Given the description of an element on the screen output the (x, y) to click on. 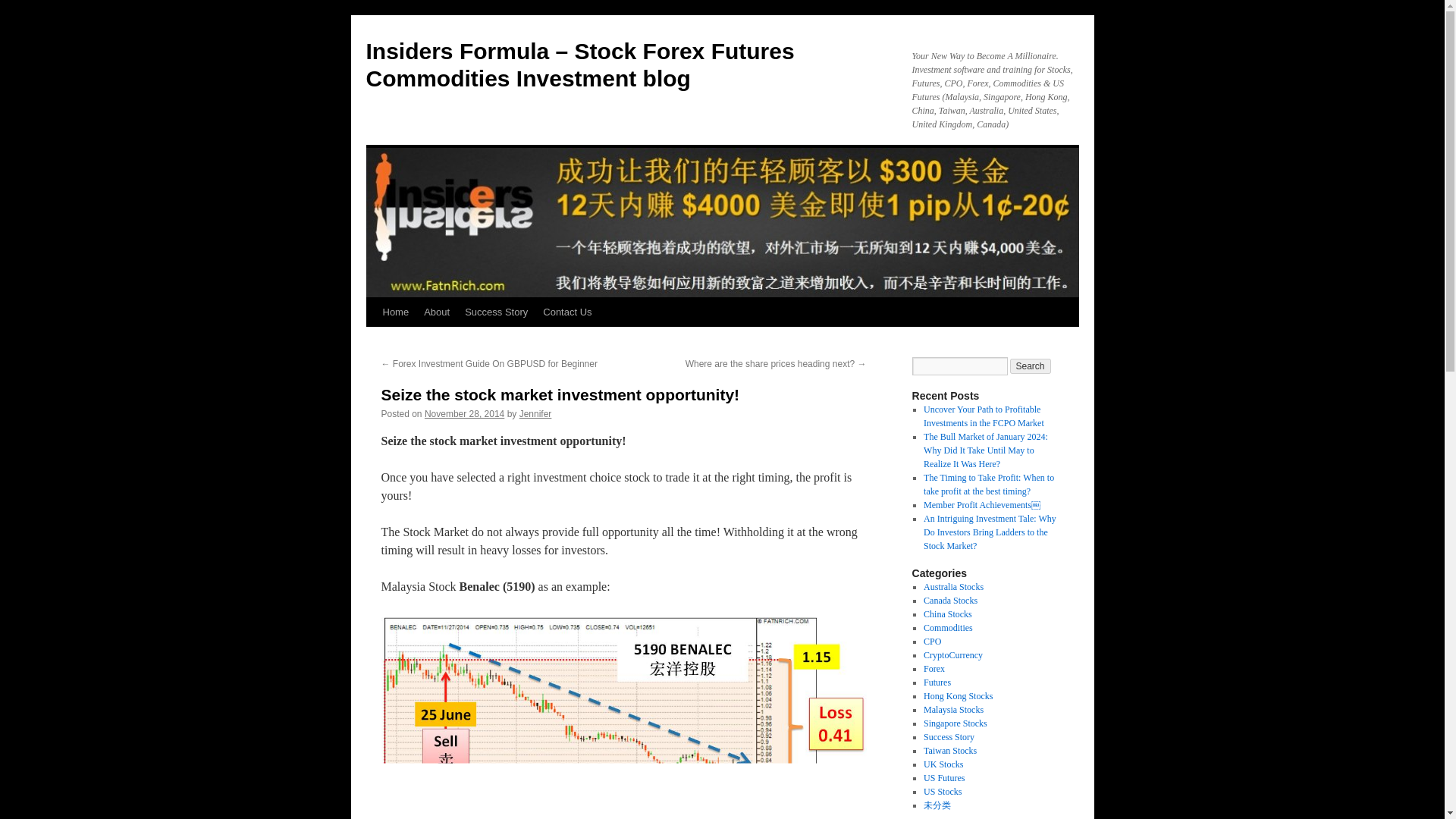
Contact Us (566, 312)
November 28, 2014 (464, 413)
7:43 am (464, 413)
Success Story (496, 312)
Home (395, 312)
About (436, 312)
Jennifer (535, 413)
Search (1030, 365)
Malaysia Stock Benalec 5190 (623, 718)
View all posts by Jennifer (535, 413)
